Given the description of an element on the screen output the (x, y) to click on. 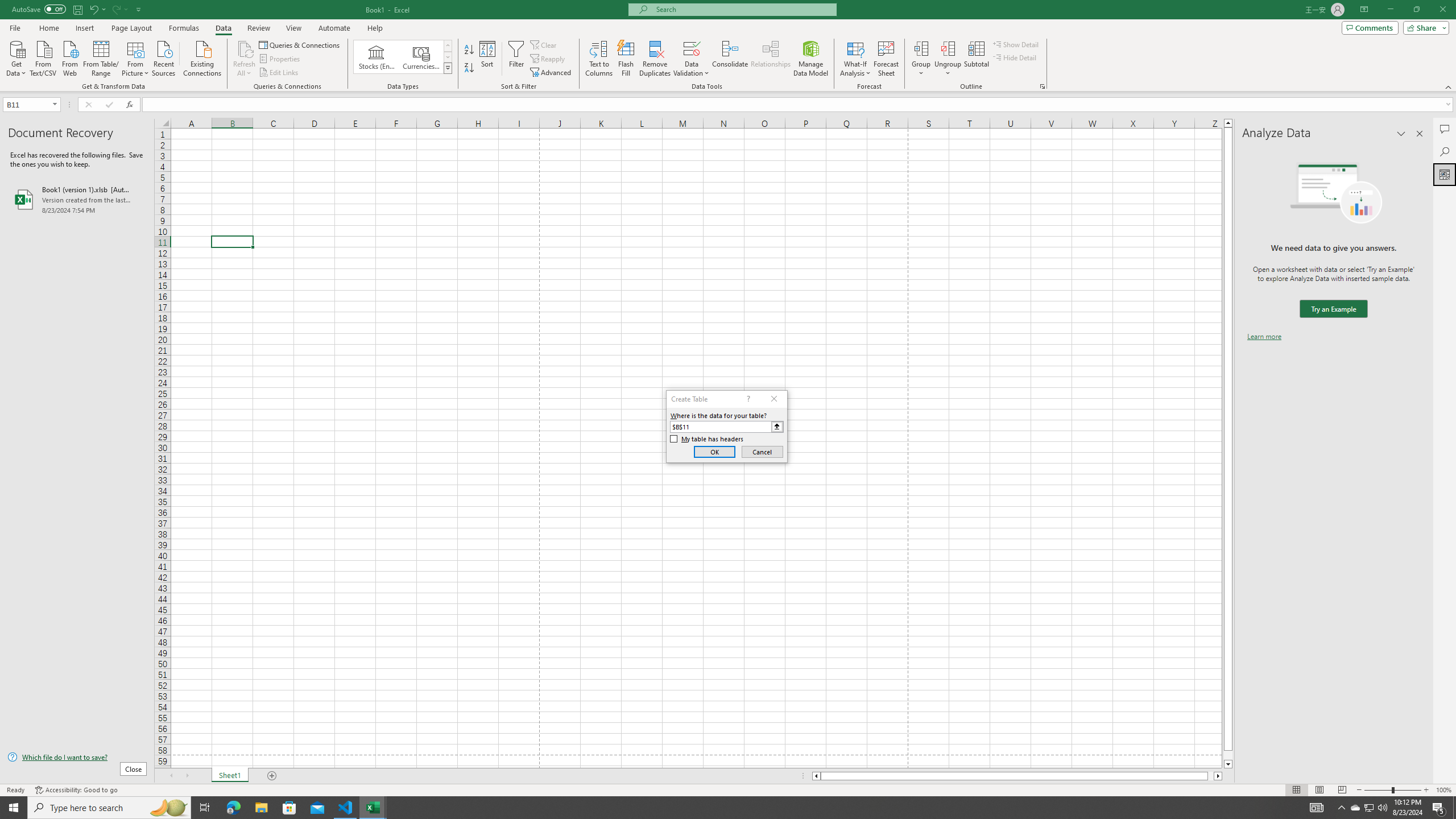
Page down (1228, 755)
Sort Z to A (469, 67)
Group and Outline Settings (1042, 85)
Class: NetUIScrollBar (1016, 775)
Microsoft search (742, 9)
From Table/Range (100, 57)
Undo (96, 9)
Group... (921, 58)
From Web (69, 57)
Stocks (English) (375, 56)
Line down (1228, 764)
Get Data (16, 57)
Home (48, 28)
Page Layout (1318, 790)
Page Break Preview (1342, 790)
